Given the description of an element on the screen output the (x, y) to click on. 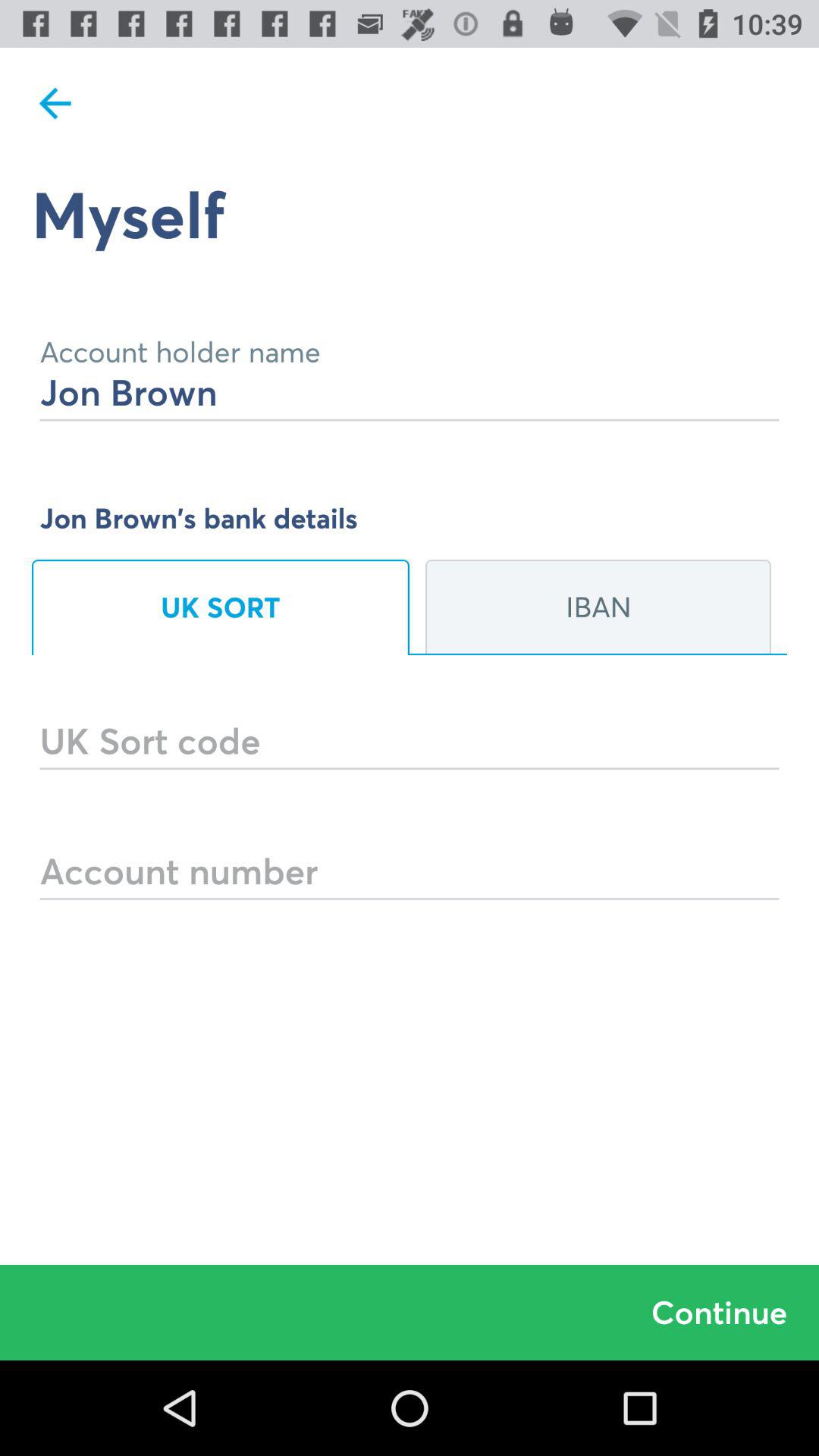
choose uk sort on the left (220, 607)
